Given the description of an element on the screen output the (x, y) to click on. 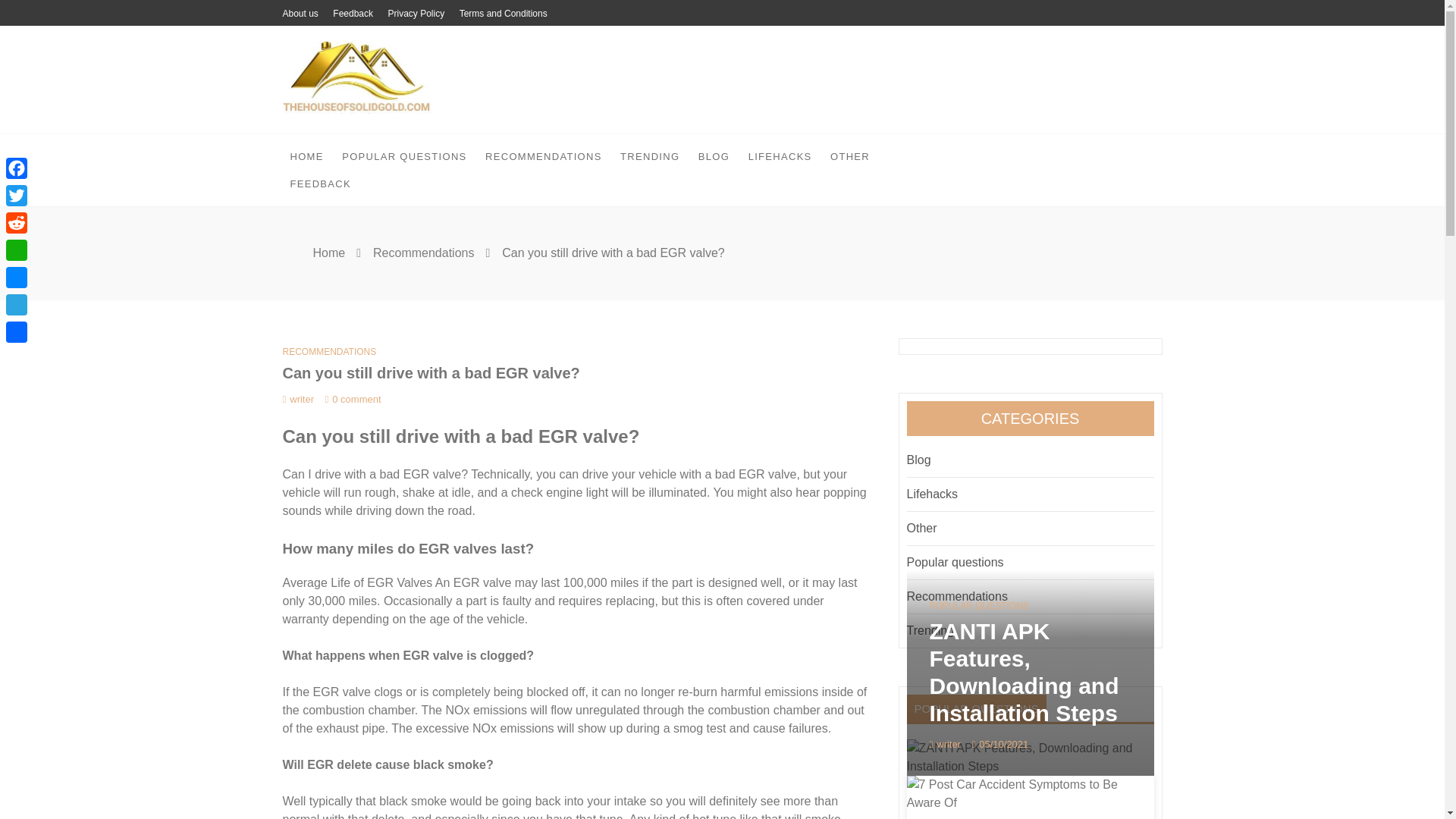
RECOMMENDATIONS (328, 351)
Terms and Conditions (503, 13)
RECOMMENDATIONS (543, 156)
LIFEHACKS (780, 156)
TRENDING (649, 156)
writer (298, 398)
Recommendations (423, 252)
POPULAR QUESTIONS (404, 156)
0 comment (352, 398)
HOME (306, 156)
